Given the description of an element on the screen output the (x, y) to click on. 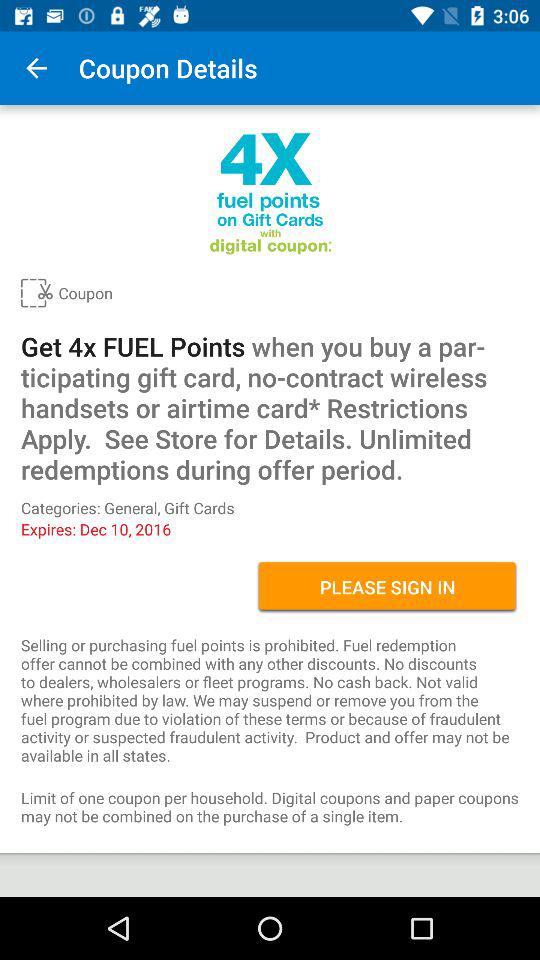
select icon below the expires dec 10 (387, 587)
